Given the description of an element on the screen output the (x, y) to click on. 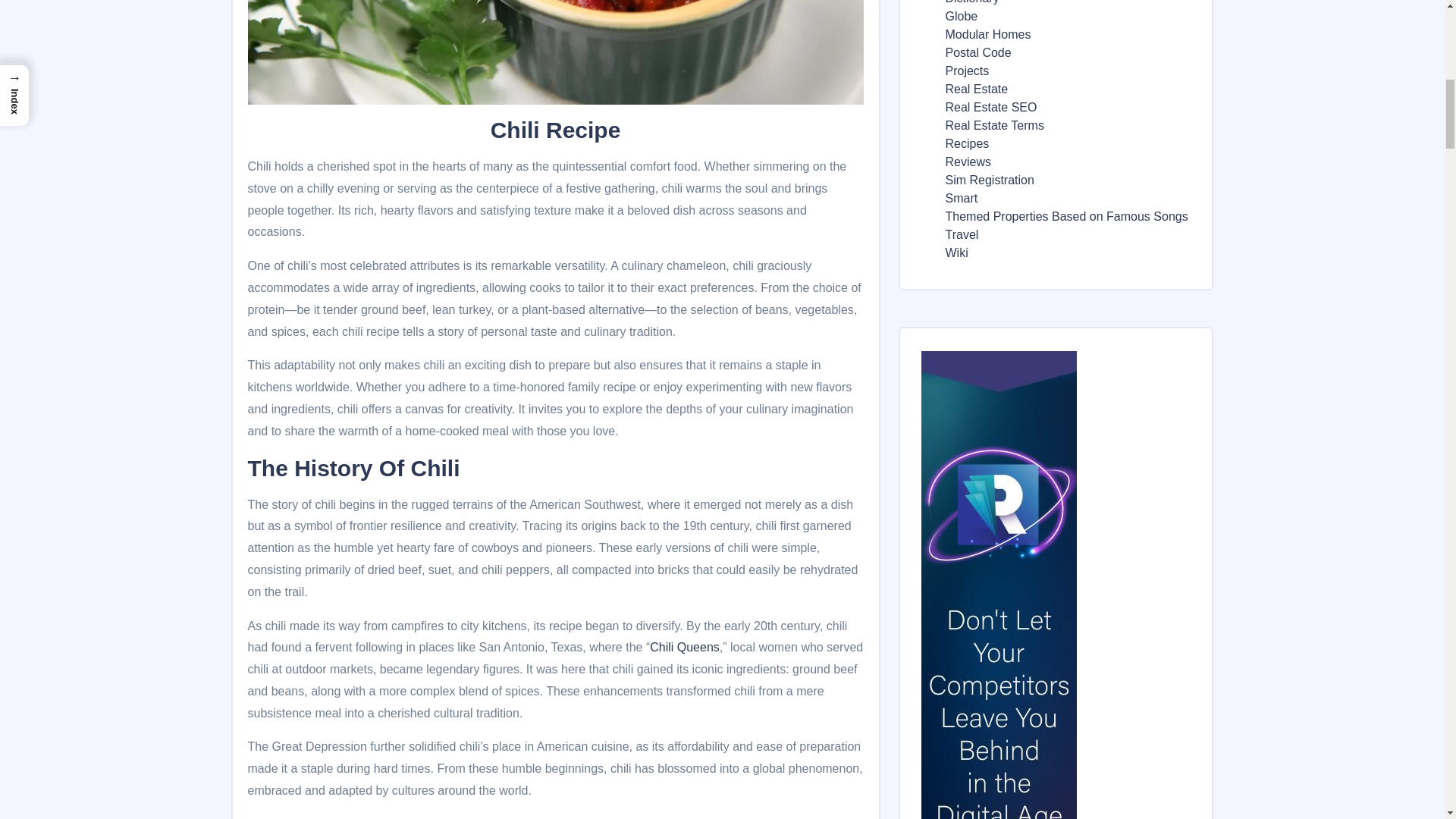
Chili Queens (684, 646)
